Given the description of an element on the screen output the (x, y) to click on. 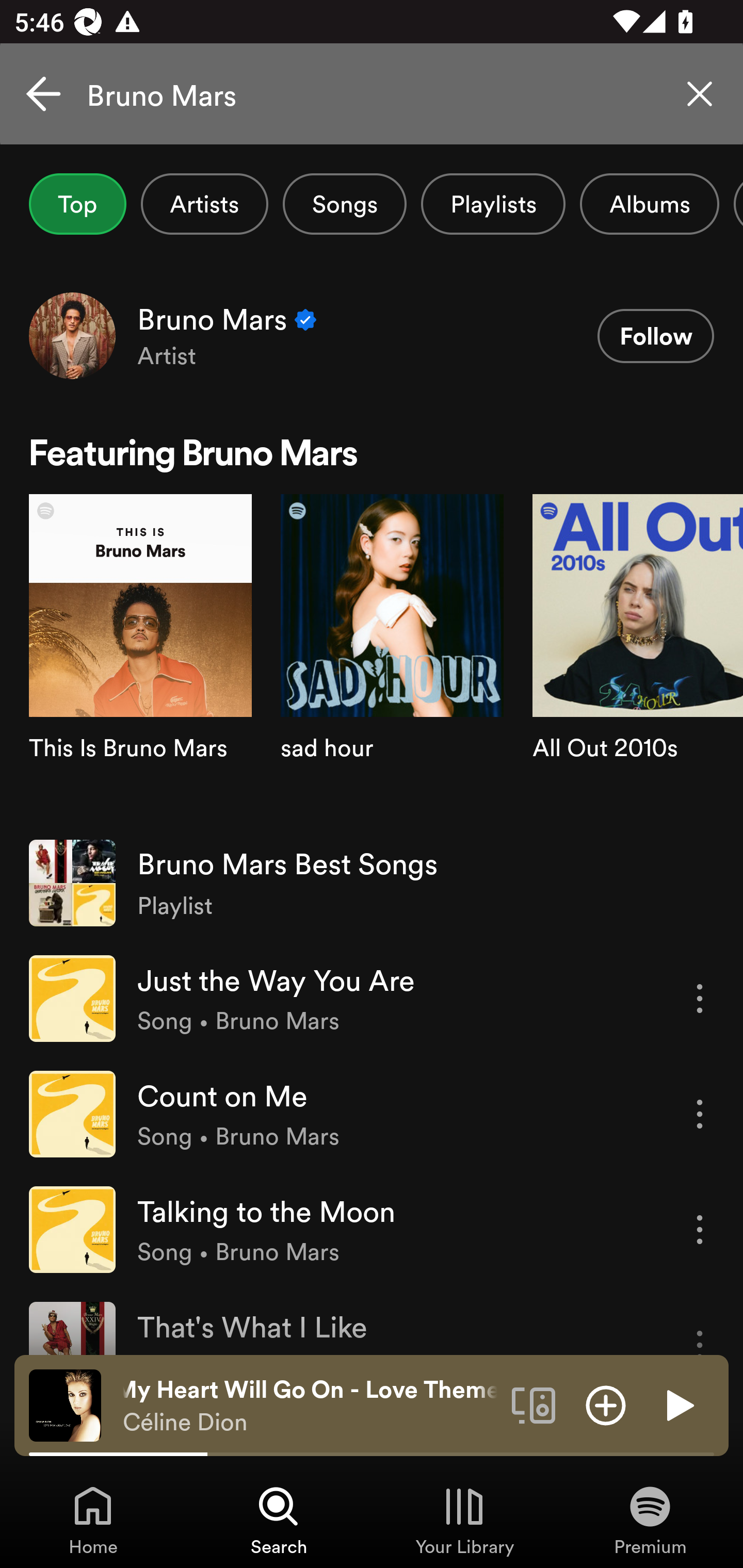
Bruno Mars (371, 93)
Cancel (43, 93)
Clear search query (699, 93)
Top (77, 203)
Artists (204, 203)
Songs (344, 203)
Playlists (493, 203)
Albums (649, 203)
Bruno Mars Verified Artist Follow Follow (371, 335)
Follow (655, 335)
Search card image This Is Bruno Mars (139, 658)
Search card image sad hour (391, 658)
Search card image All Out 2010s (637, 658)
Bruno Mars Best Songs Playlist (371, 882)
More options for song Just the Way You Are (699, 997)
More options for song Count on Me (699, 1113)
More options for song Talking to the Moon (699, 1229)
More options for song That's What I Like (699, 1327)
The cover art of the currently playing track (64, 1404)
Connect to a device. Opens the devices menu (533, 1404)
Add item (605, 1404)
Play (677, 1404)
Home, Tab 1 of 4 Home Home (92, 1519)
Search, Tab 2 of 4 Search Search (278, 1519)
Your Library, Tab 3 of 4 Your Library Your Library (464, 1519)
Premium, Tab 4 of 4 Premium Premium (650, 1519)
